Given the description of an element on the screen output the (x, y) to click on. 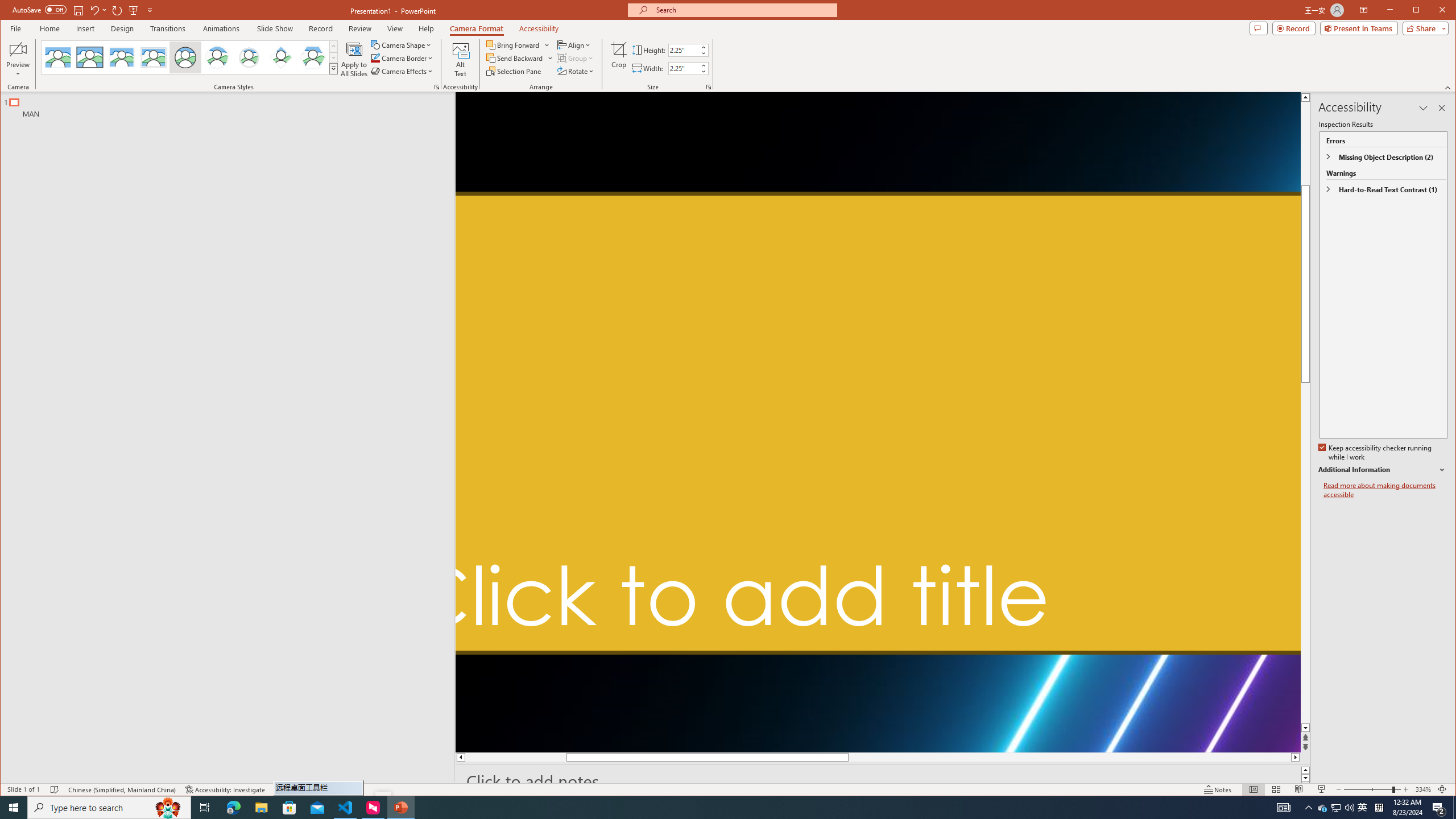
Simple Frame Rectangle (90, 57)
Align (575, 44)
